Given the description of an element on the screen output the (x, y) to click on. 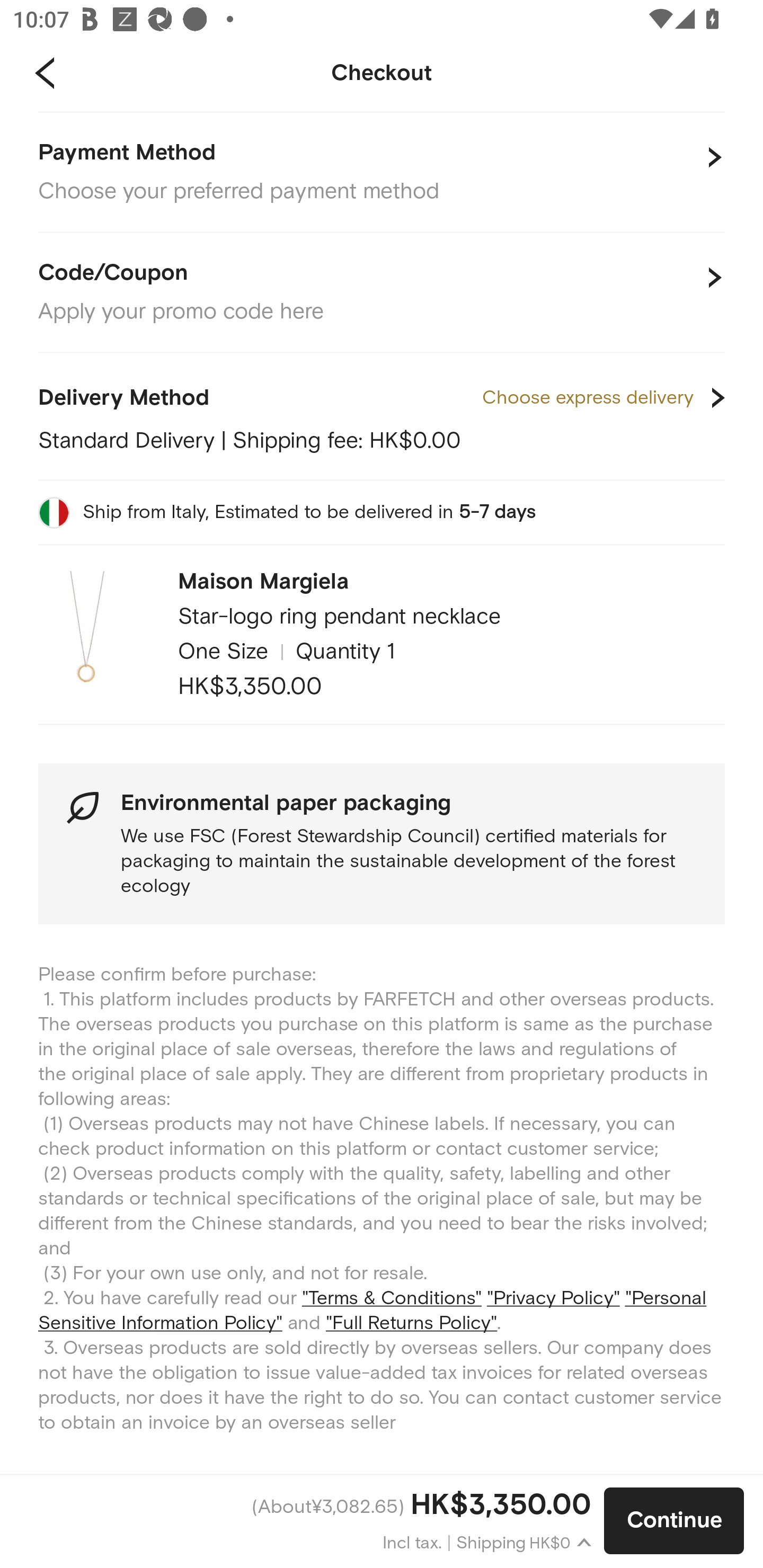
Code/Coupon Apply your promo code here (381, 292)
Continue (673, 1520)
